Given the description of an element on the screen output the (x, y) to click on. 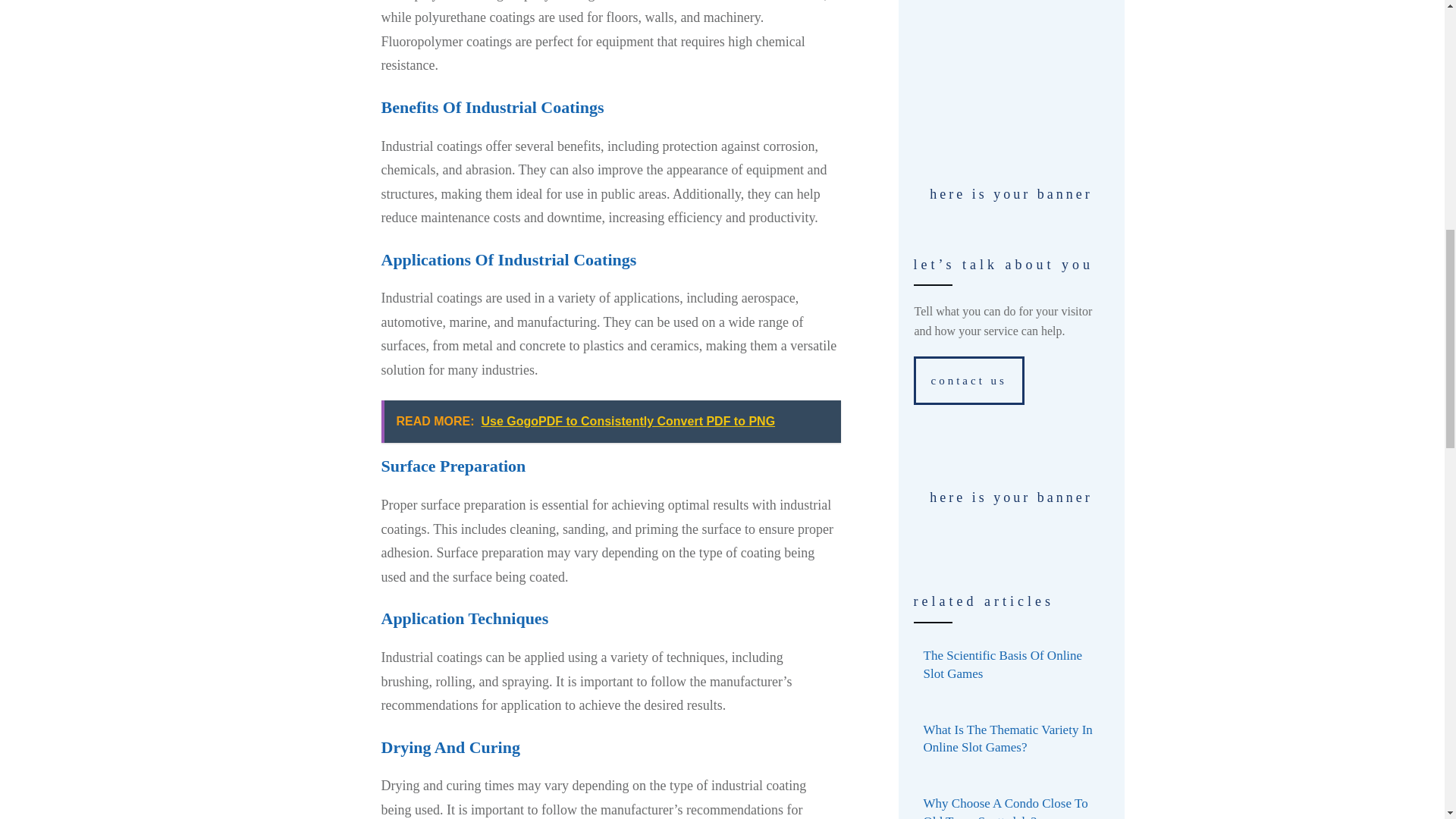
Why Choose a Condo Close to Old Town Scottsdale? (610, 421)
The Scientific Basis of Online Slot Games (1005, 807)
What is the Thematic Variety in Online Slot Games? (1003, 664)
